Given the description of an element on the screen output the (x, y) to click on. 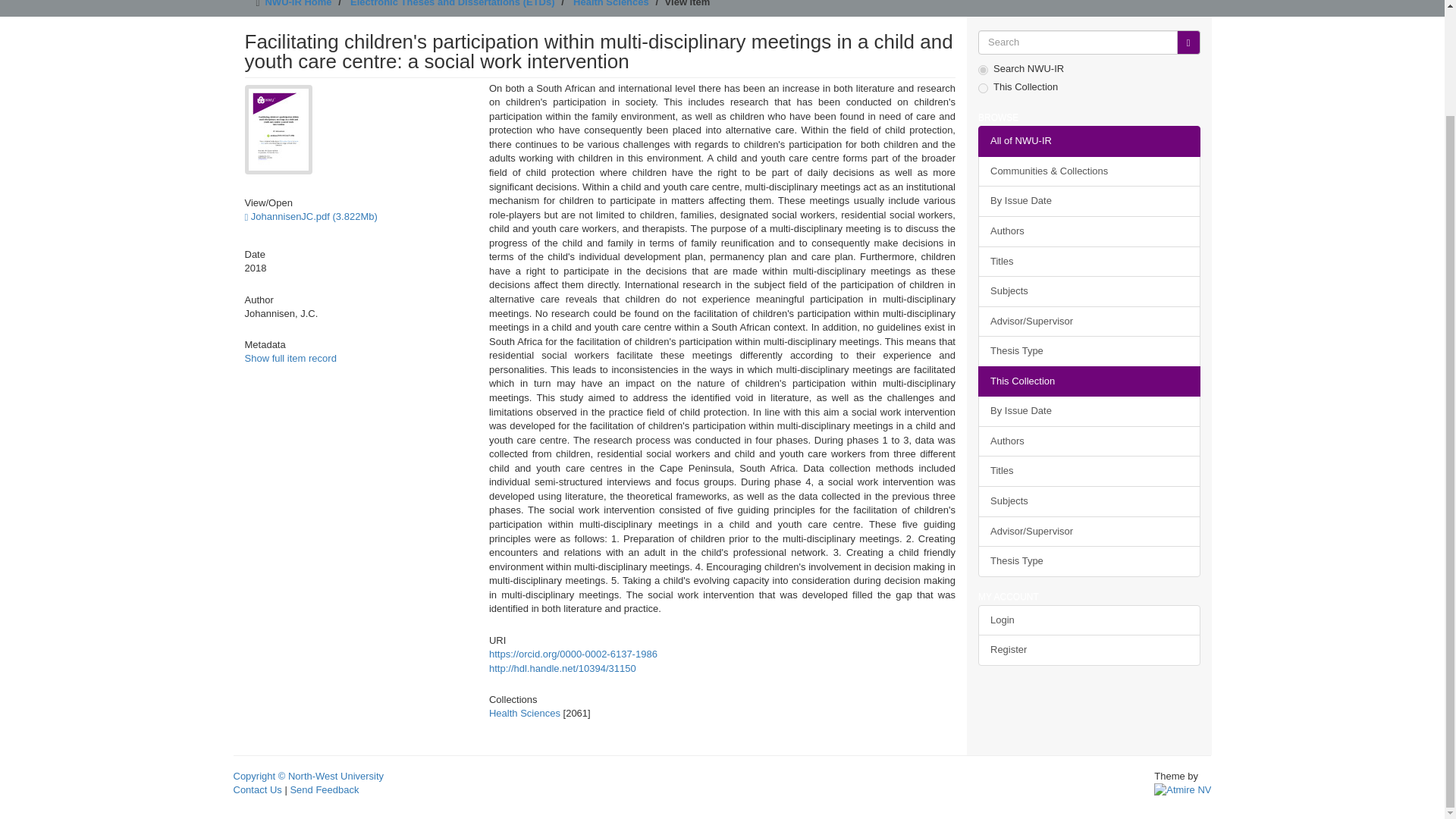
Subjects (1088, 291)
Authors (1088, 441)
Titles (1088, 260)
Login (1088, 620)
By Issue Date (1088, 201)
Show full item record (290, 357)
This Collection (1088, 381)
Thesis Type (1088, 350)
Subjects (1088, 501)
Go (1187, 42)
Titles (1088, 470)
All of NWU-IR (1088, 141)
Health Sciences (611, 3)
Authors (1088, 231)
Atmire NV (1182, 789)
